Given the description of an element on the screen output the (x, y) to click on. 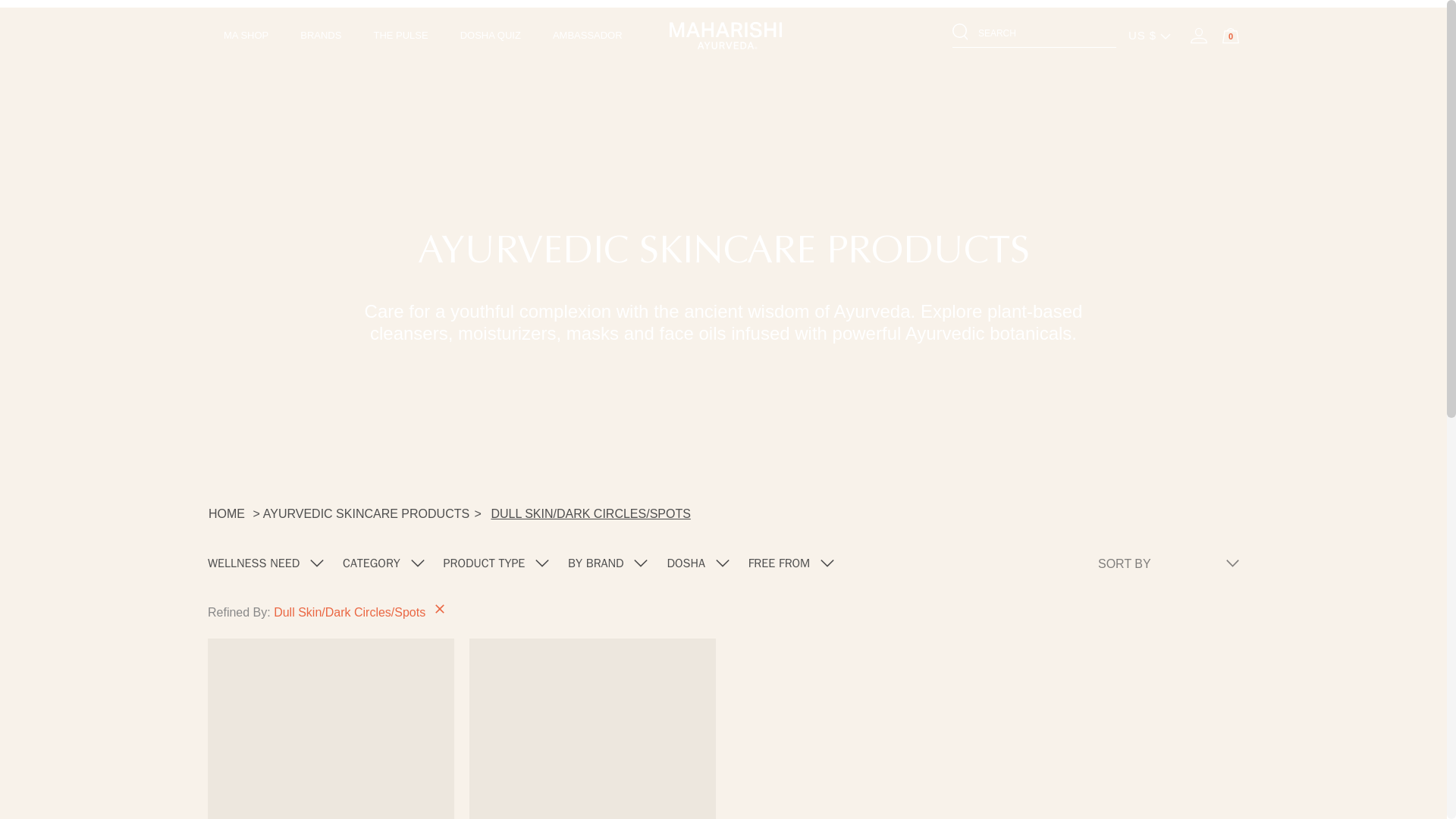
DOSHA QUIZ (490, 35)
THE PULSE (400, 35)
MA SHOP (245, 35)
BRANDS (319, 35)
AMBASSADOR (588, 35)
